Given the description of an element on the screen output the (x, y) to click on. 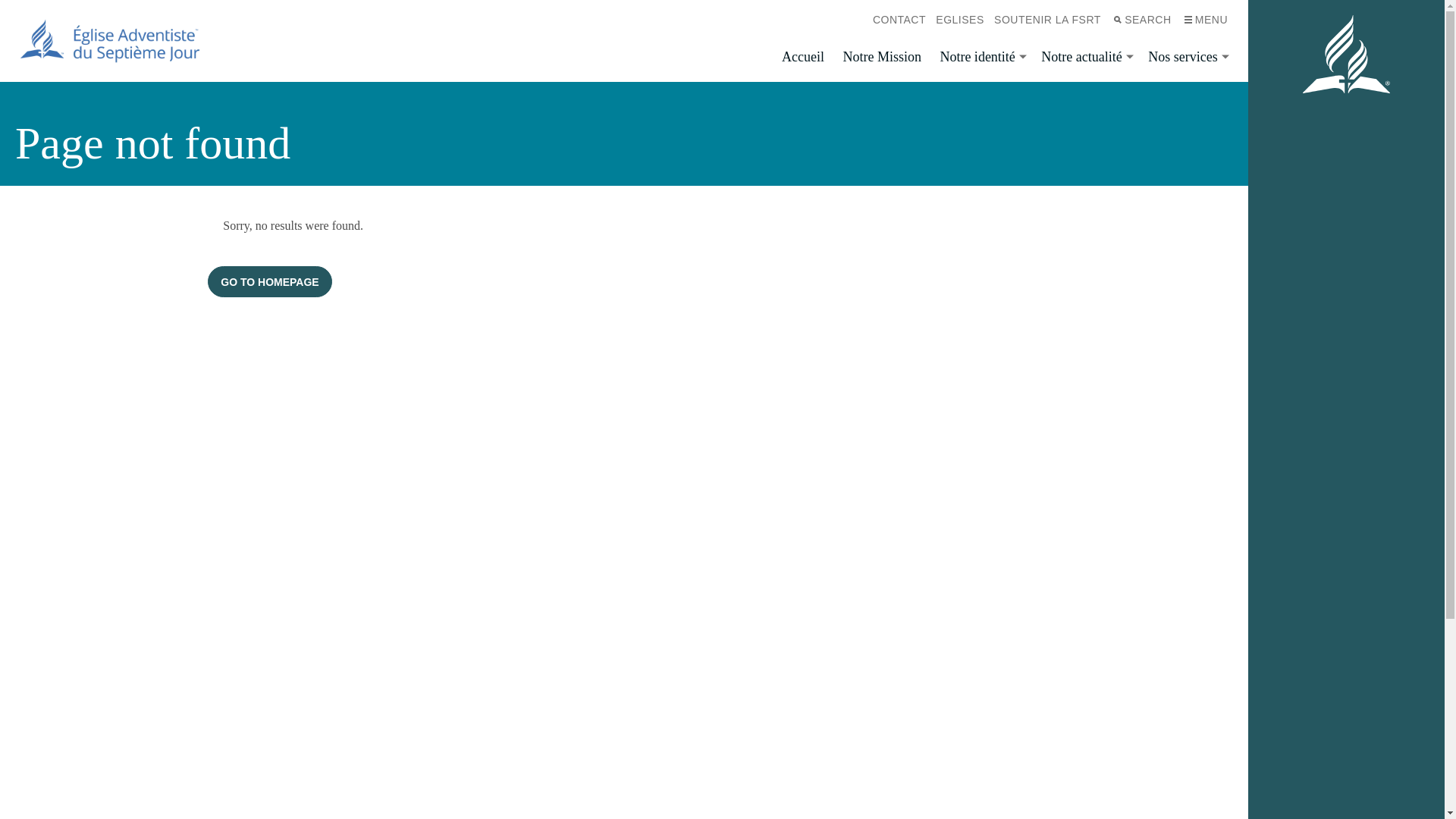
Nos services Element type: text (1186, 57)
SEARCH Element type: text (1140, 20)
EGLISES Element type: text (960, 20)
Notre Mission Element type: text (881, 57)
Accueil Element type: text (802, 57)
GO TO HOMEPAGE Element type: text (269, 281)
CONTACT Element type: text (898, 20)
MENU Element type: text (1204, 20)
SOUTENIR LA FSRT Element type: text (1046, 20)
